Given the description of an element on the screen output the (x, y) to click on. 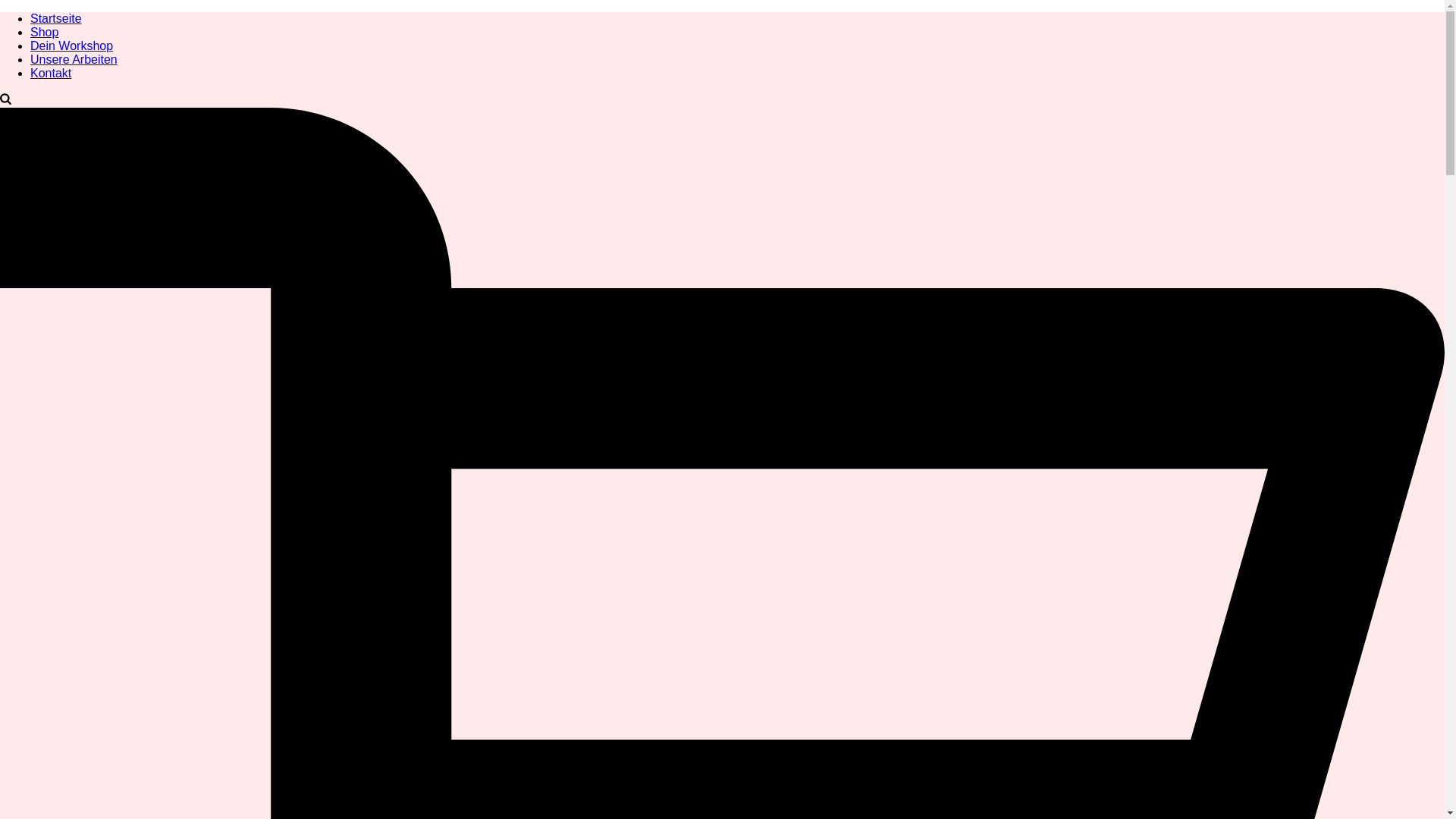
Dein Workshop Element type: text (71, 45)
Unsere Arbeiten Element type: text (73, 59)
Shop Element type: text (44, 31)
Startseite Element type: text (55, 18)
Kontakt Element type: text (50, 72)
